Given the description of an element on the screen output the (x, y) to click on. 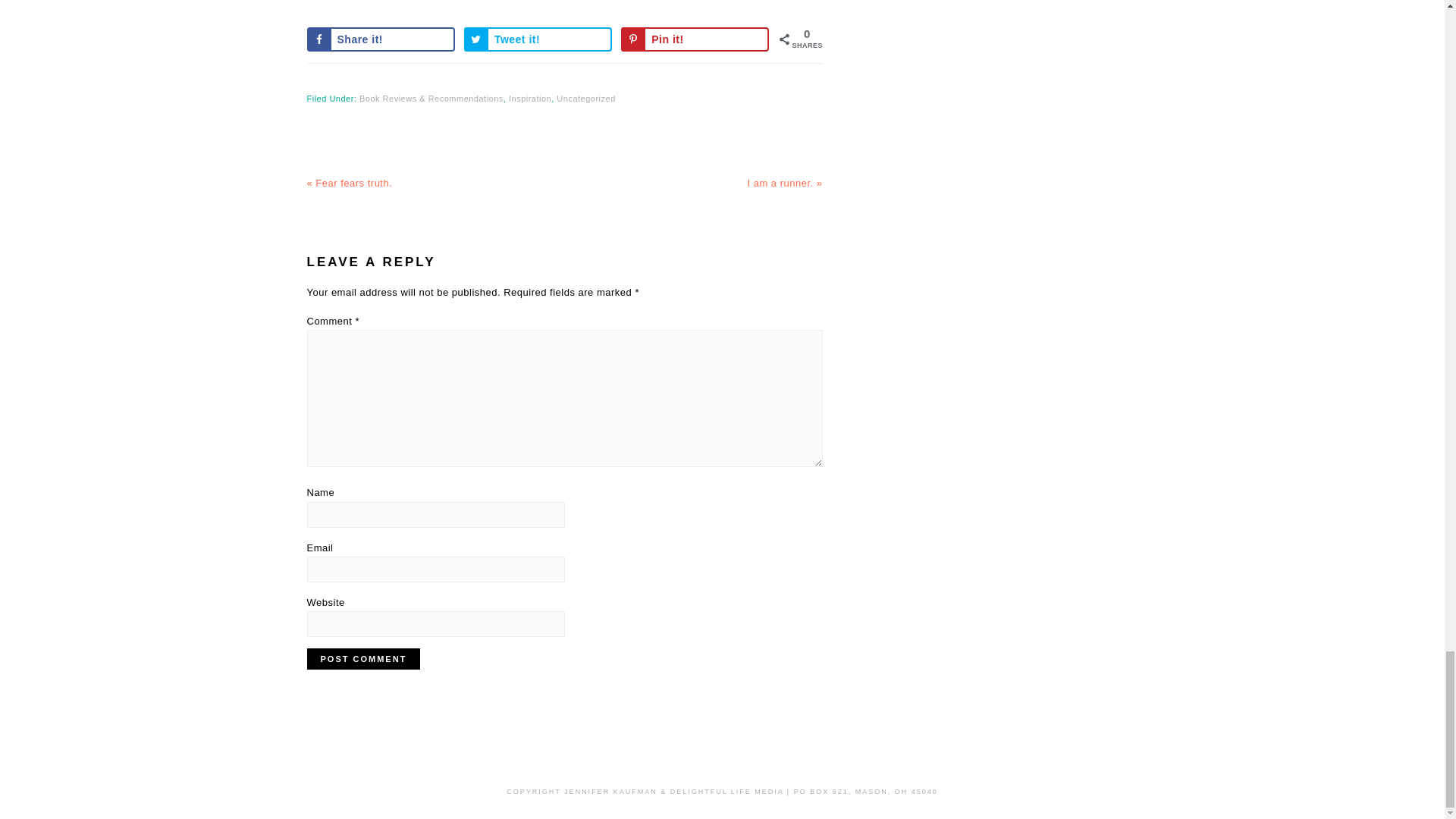
Save to Pinterest (694, 39)
Share on Twitter (537, 39)
Post Comment (362, 658)
Share on Facebook (379, 39)
